Given the description of an element on the screen output the (x, y) to click on. 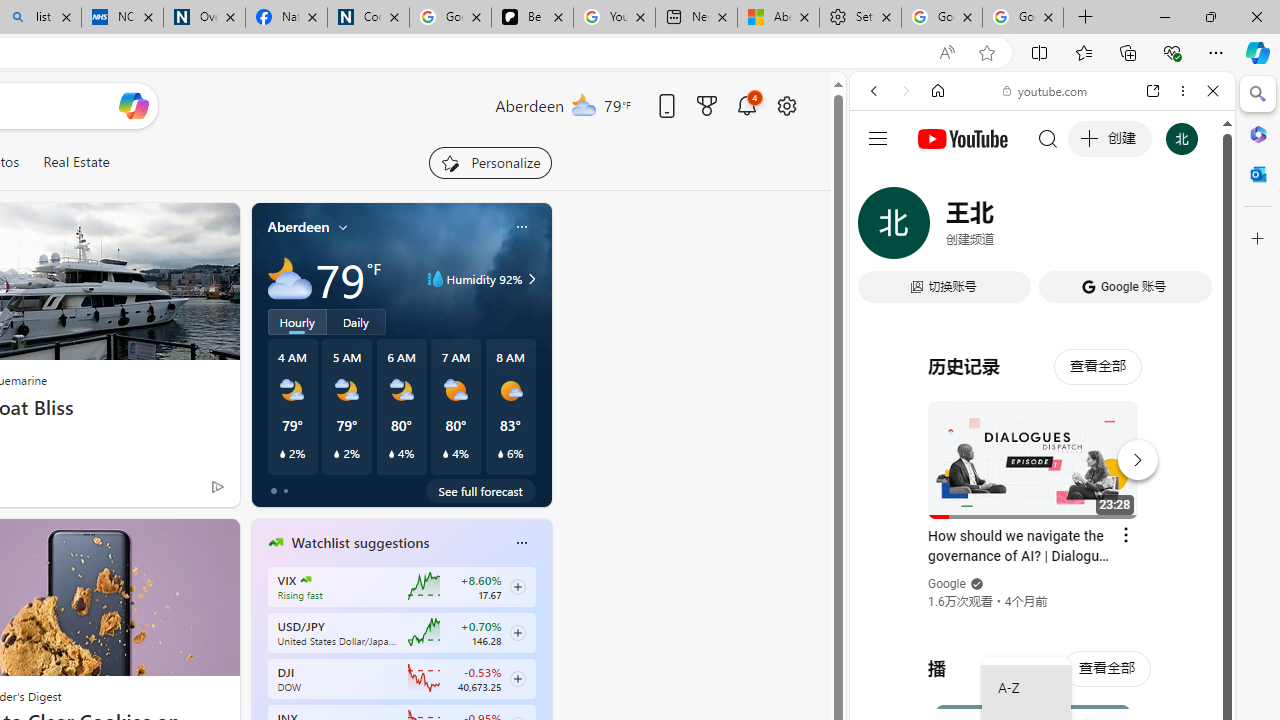
Personalize your feed" (489, 162)
Aberdeen (298, 227)
Cookies (368, 17)
A-Z (1026, 688)
Show More Music (1164, 546)
Class: weather-current-precipitation-glyph (500, 453)
